Given the description of an element on the screen output the (x, y) to click on. 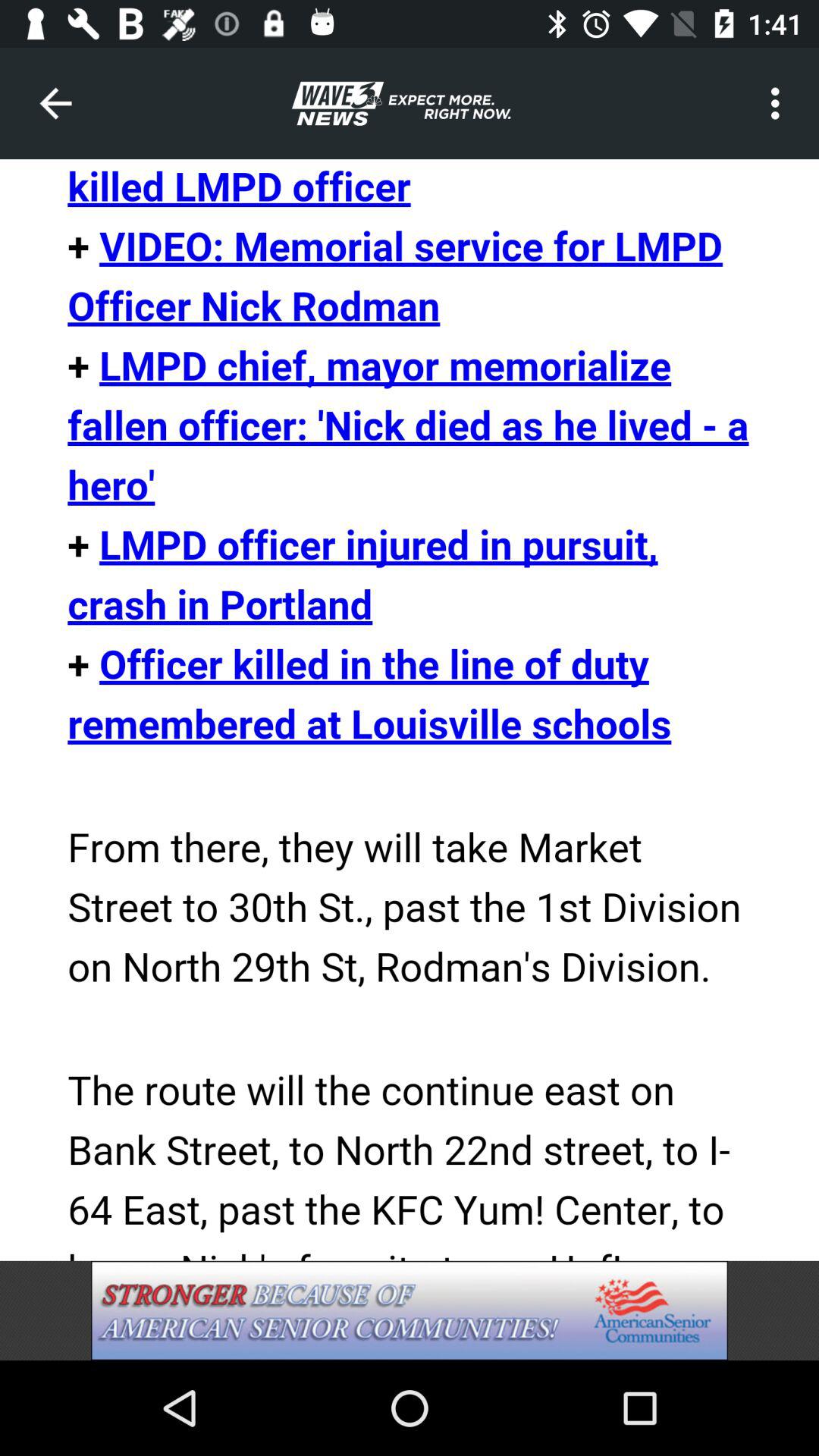
screen page (409, 709)
